Given the description of an element on the screen output the (x, y) to click on. 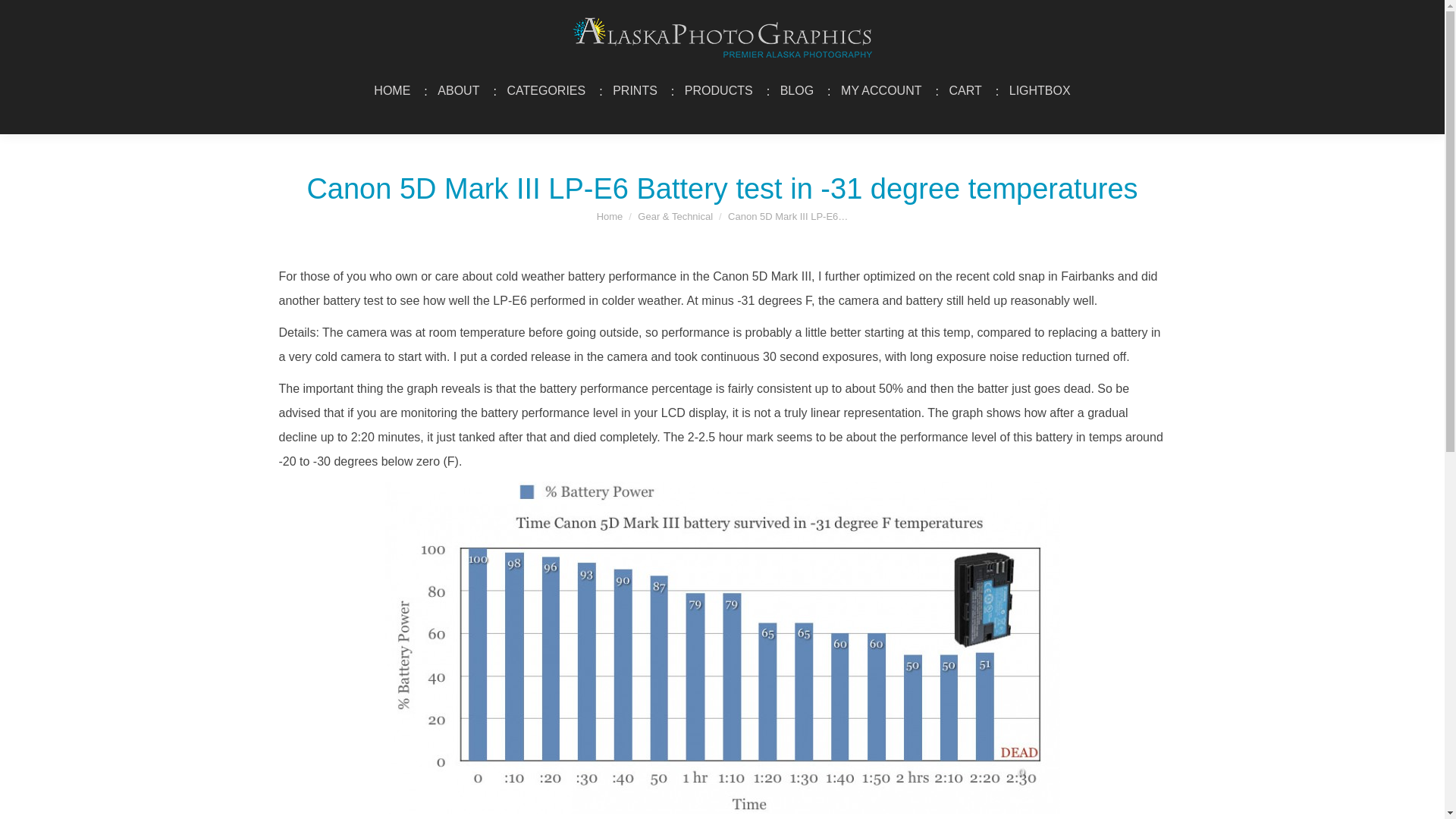
PRINTS (634, 90)
MY ACCOUNT (880, 90)
CART (964, 90)
LIGHTBOX (1040, 90)
CATEGORIES (545, 90)
ABOUT (458, 90)
PRODUCTS (719, 90)
Home (609, 215)
BLOG (796, 90)
HOME (391, 90)
